Given the description of an element on the screen output the (x, y) to click on. 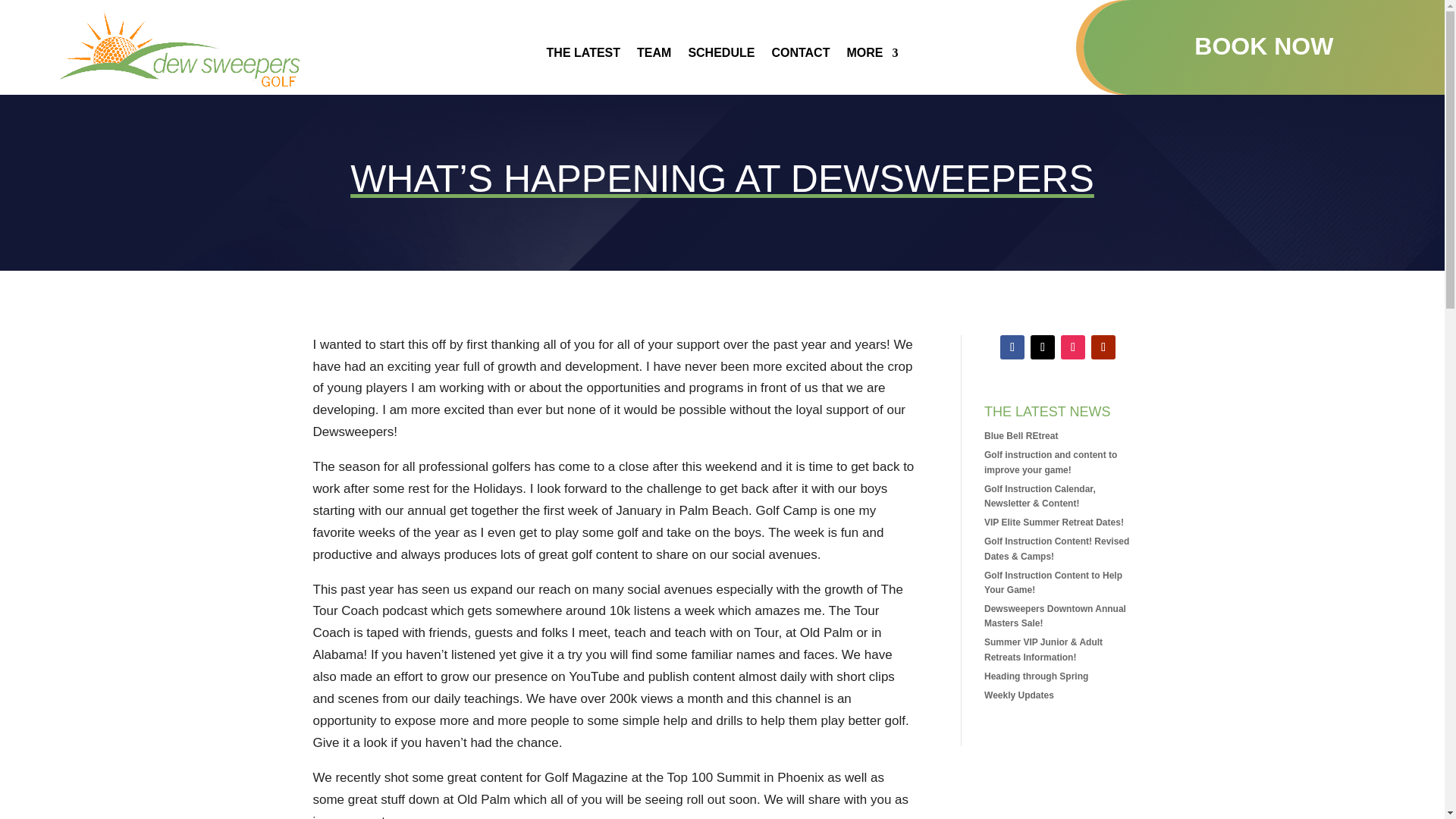
MORE (871, 55)
TEAM (654, 55)
CONTACT (800, 55)
Follow on Twitter (1042, 346)
Follow on Facebook (1012, 346)
VIP Elite Summer Retreat Dates! (1054, 521)
Golf Instruction Content to Help Your Game! (1053, 582)
THE LATEST (583, 55)
Follow on Youtube (1102, 346)
Dew-Sweepers-Golf-logo (180, 49)
Follow on Instagram (1072, 346)
SCHEDULE (720, 55)
Golf instruction and content to improve your game! (1050, 462)
Blue Bell REtreat (1021, 435)
